Given the description of an element on the screen output the (x, y) to click on. 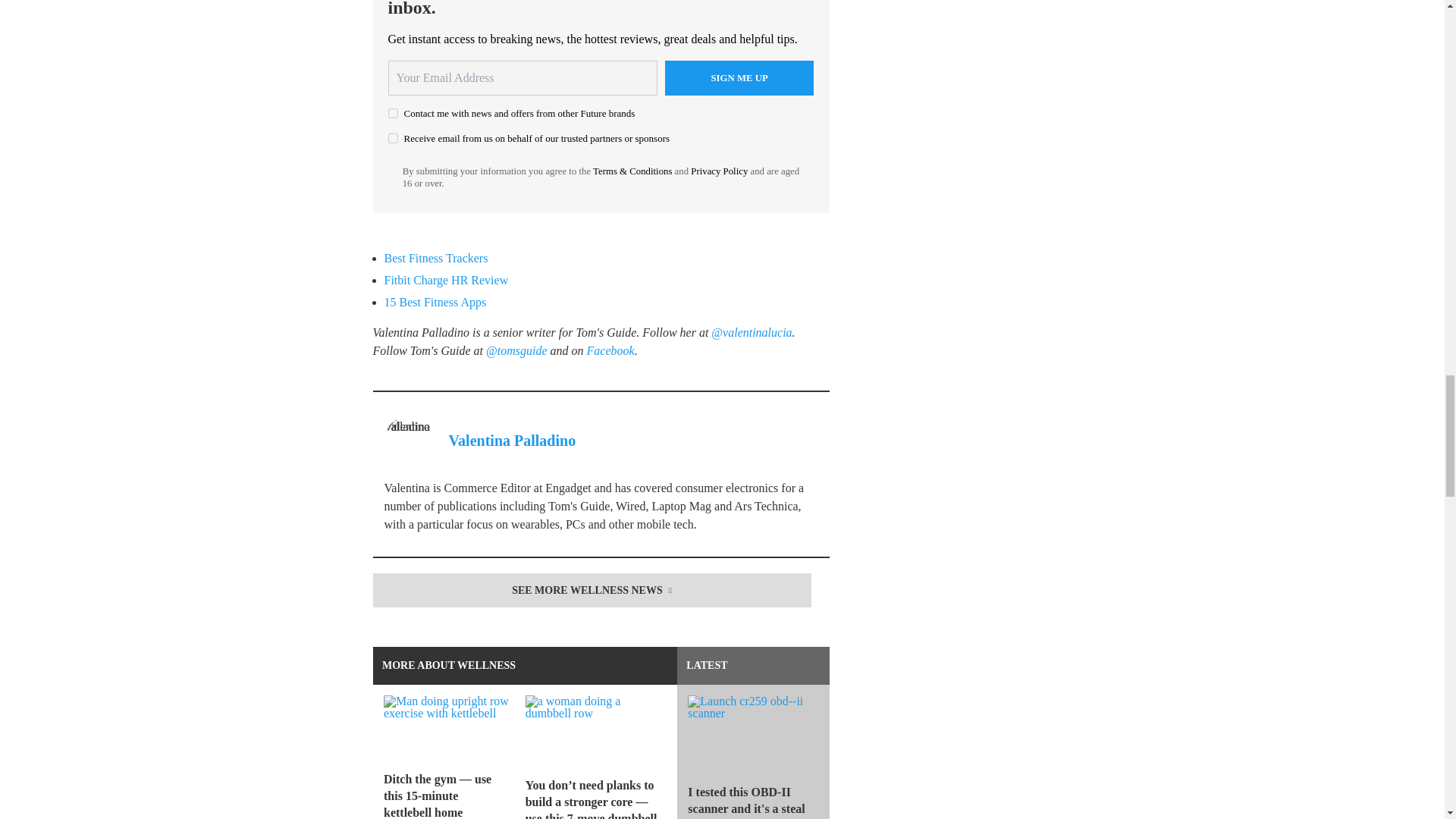
on (392, 138)
on (392, 112)
Sign me up (739, 77)
